Given the description of an element on the screen output the (x, y) to click on. 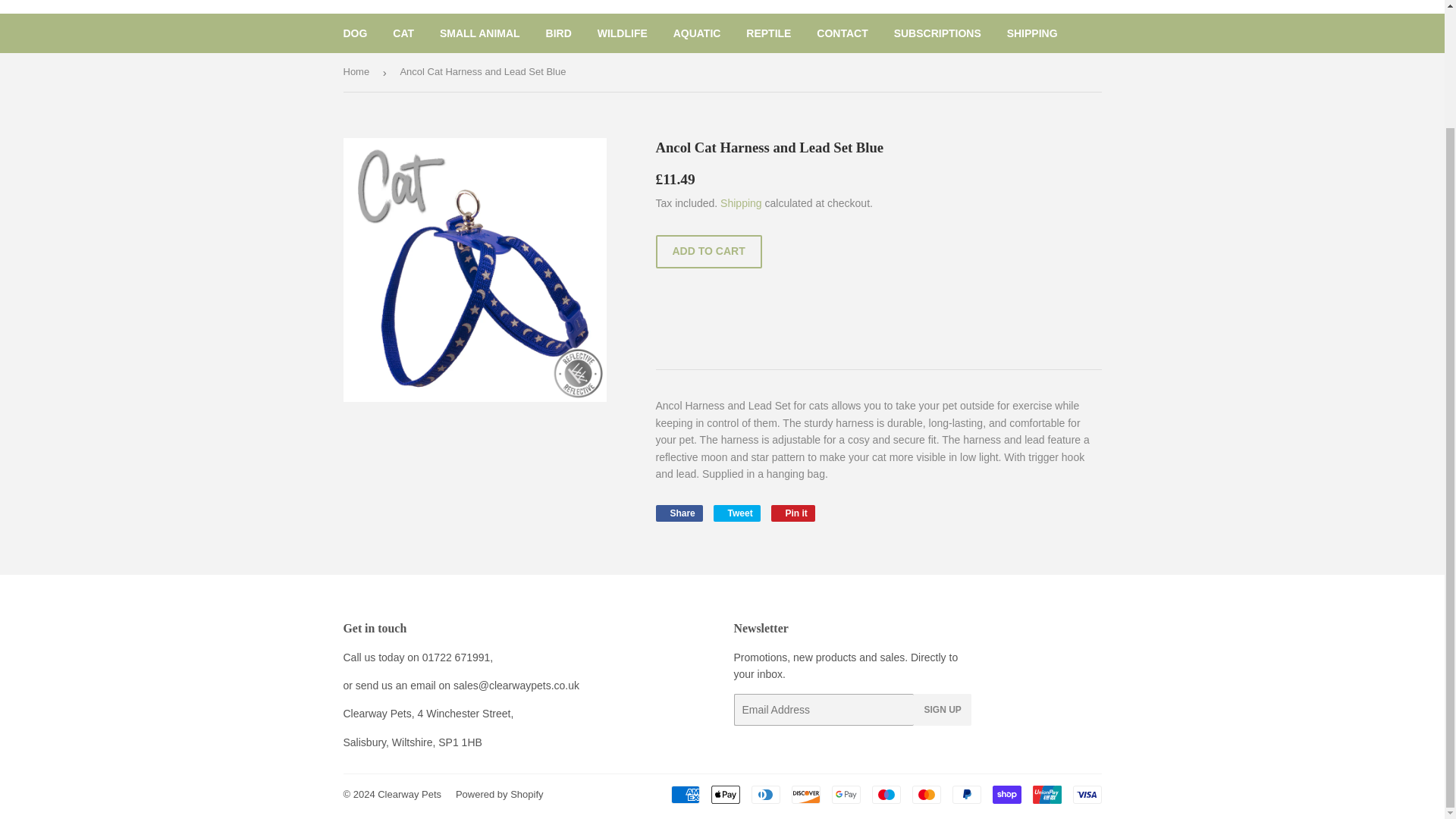
Discover (806, 794)
American Express (683, 794)
Diners Club (764, 794)
Share on Facebook (678, 513)
Union Pay (1046, 794)
Google Pay (845, 794)
Shop Pay (1005, 794)
Pin on Pinterest (793, 513)
PayPal (966, 794)
Maestro (886, 794)
